Given the description of an element on the screen output the (x, y) to click on. 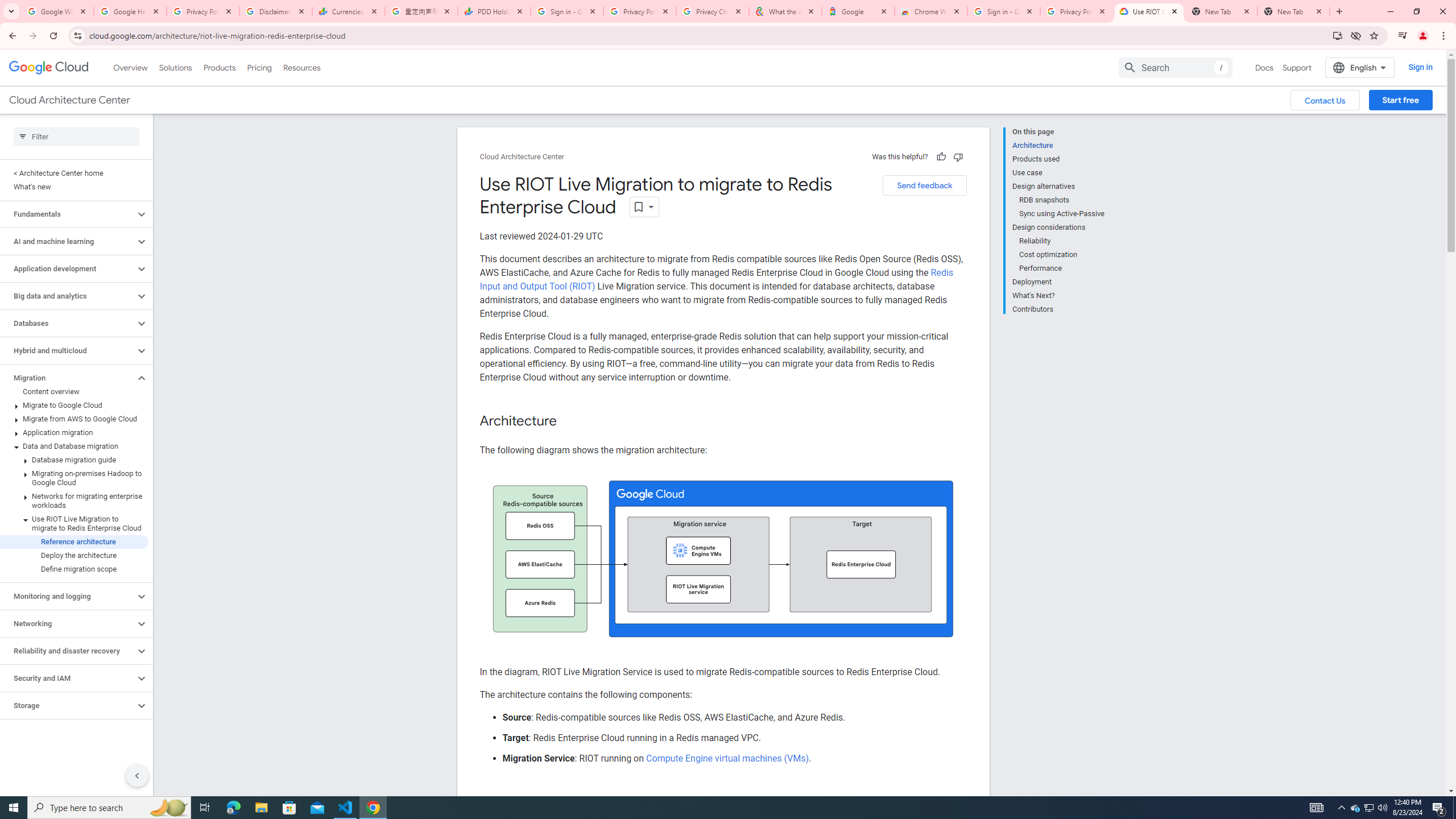
Hide side navigation (136, 775)
Migrate to Google Cloud (74, 404)
Databases (67, 323)
Architecture (1058, 145)
Networking (67, 623)
Copy link to this section: Architecture (567, 421)
Redis Input and Output Tool (RIOT) (716, 278)
Networks for migrating enterprise workloads (74, 500)
Sign in - Google Accounts (1003, 11)
Open dropdown (643, 206)
Design alternatives (1058, 186)
Google (857, 11)
Reference architecture (74, 541)
